Given the description of an element on the screen output the (x, y) to click on. 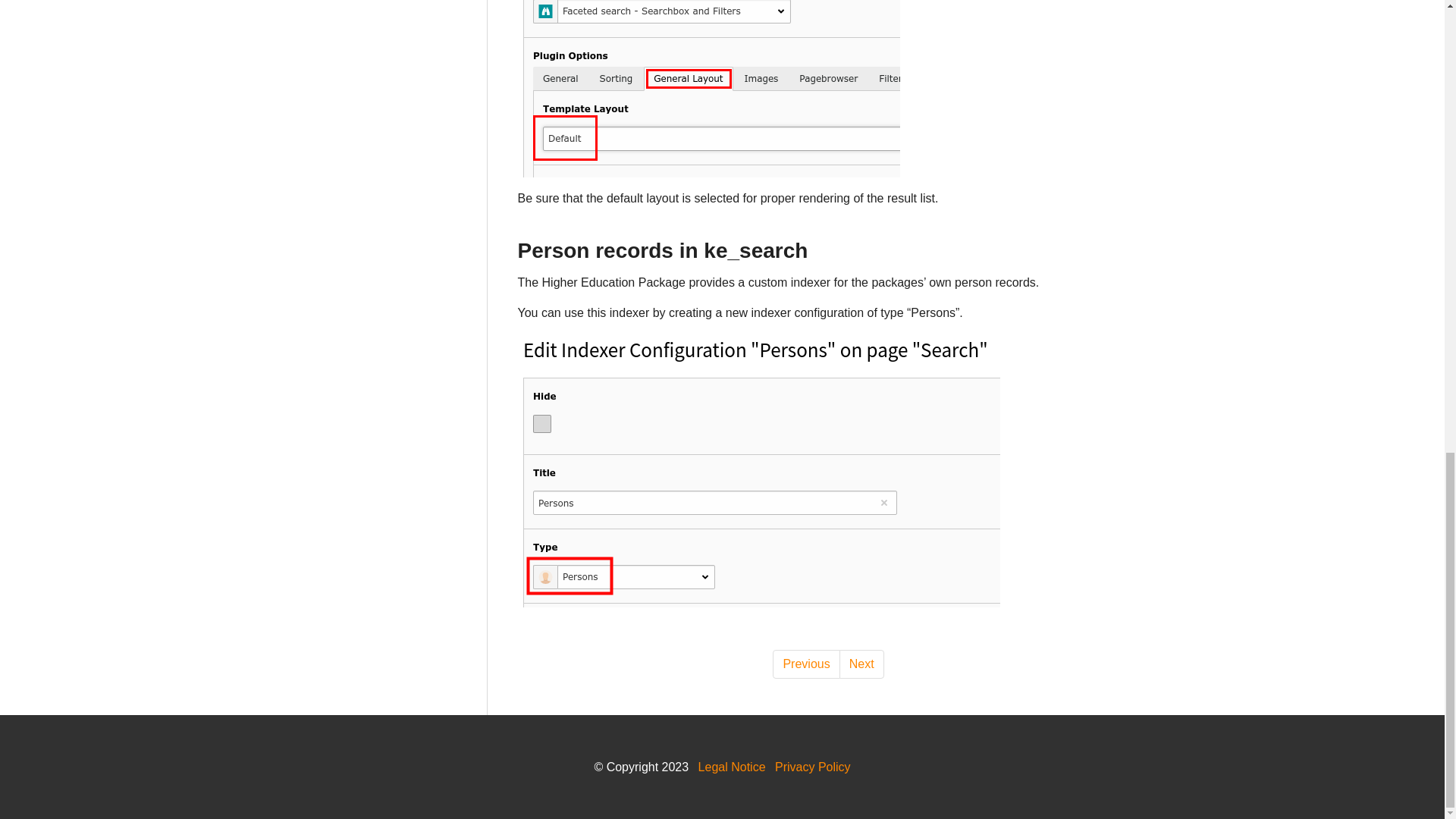
Privacy Policy (812, 767)
Legal Notice (731, 767)
